Given the description of an element on the screen output the (x, y) to click on. 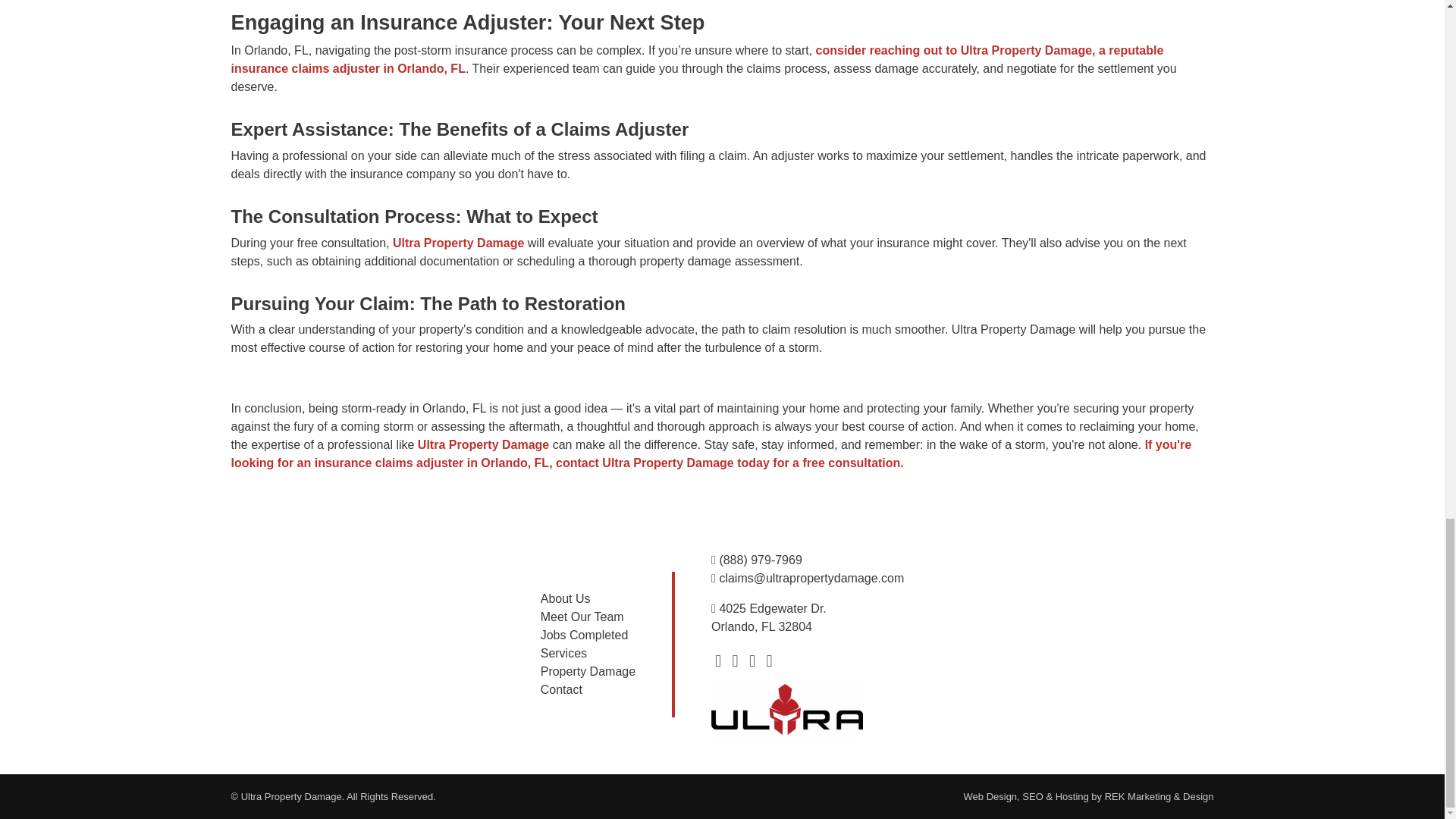
Ultra Property Damage (458, 242)
About Us (565, 598)
Property Damage (587, 671)
Ultra Property Damage (482, 444)
Meet Our Team (582, 616)
Contact (561, 689)
Jobs Completed (584, 634)
Services (563, 653)
